Given the description of an element on the screen output the (x, y) to click on. 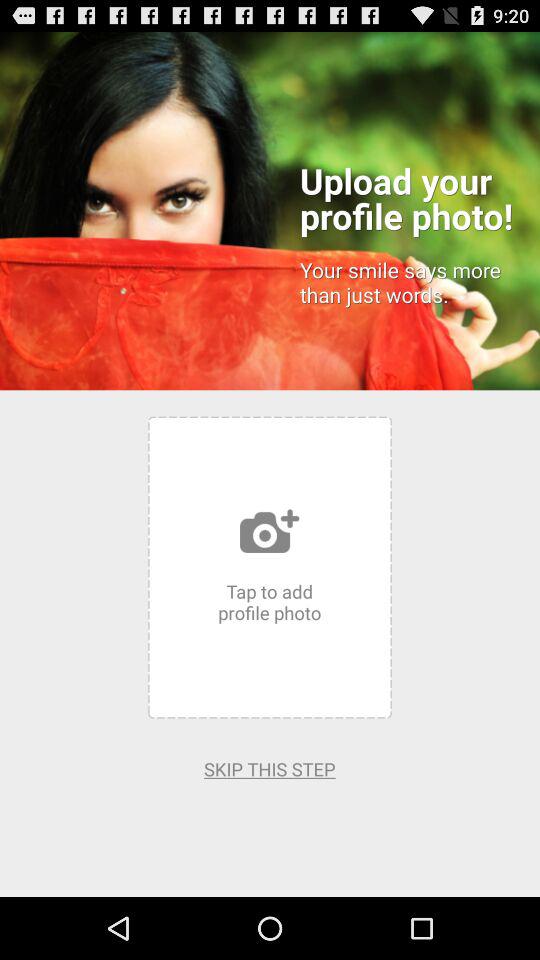
choose the skip this step app (269, 768)
